Given the description of an element on the screen output the (x, y) to click on. 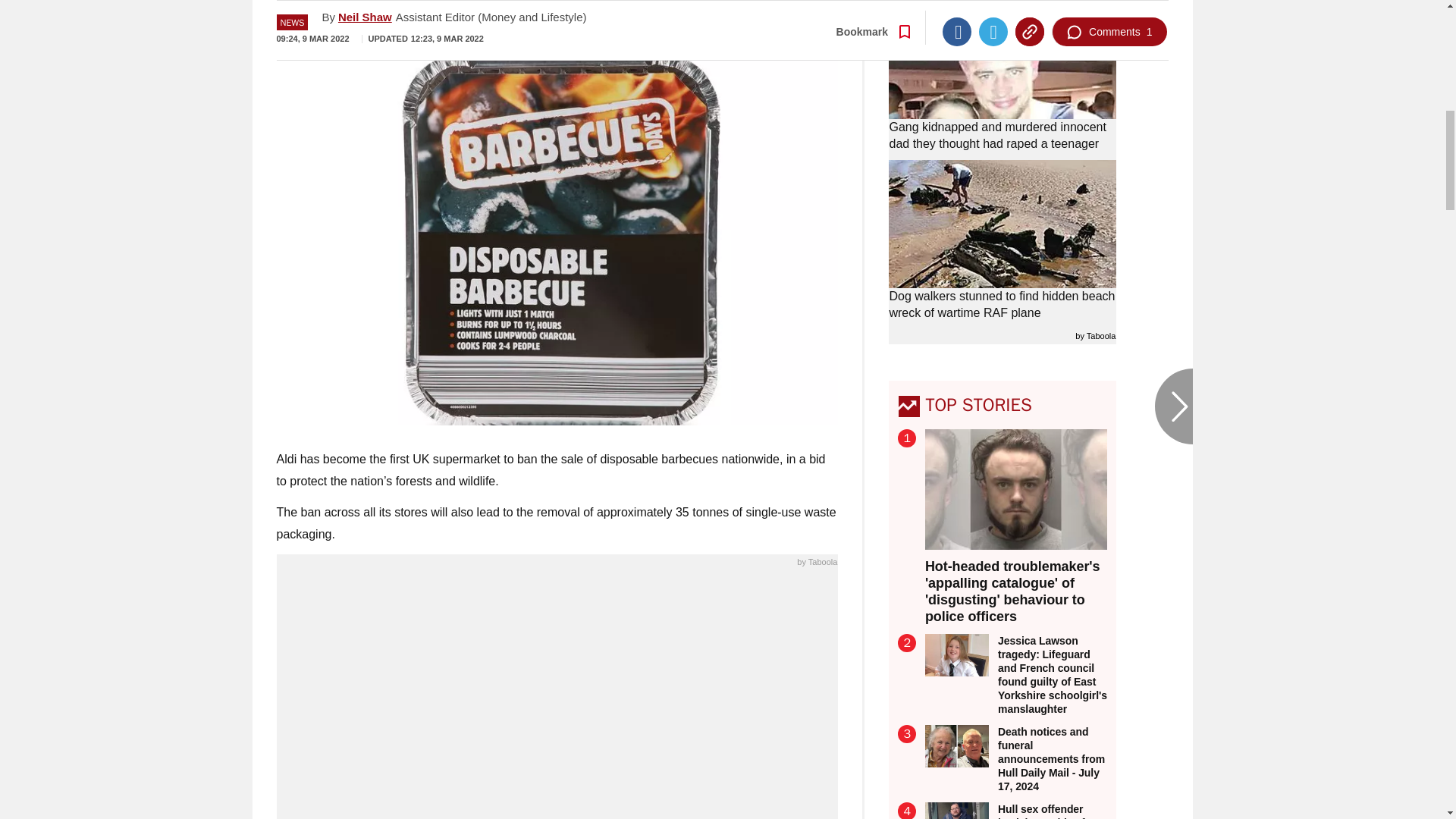
Go (730, 17)
